Given the description of an element on the screen output the (x, y) to click on. 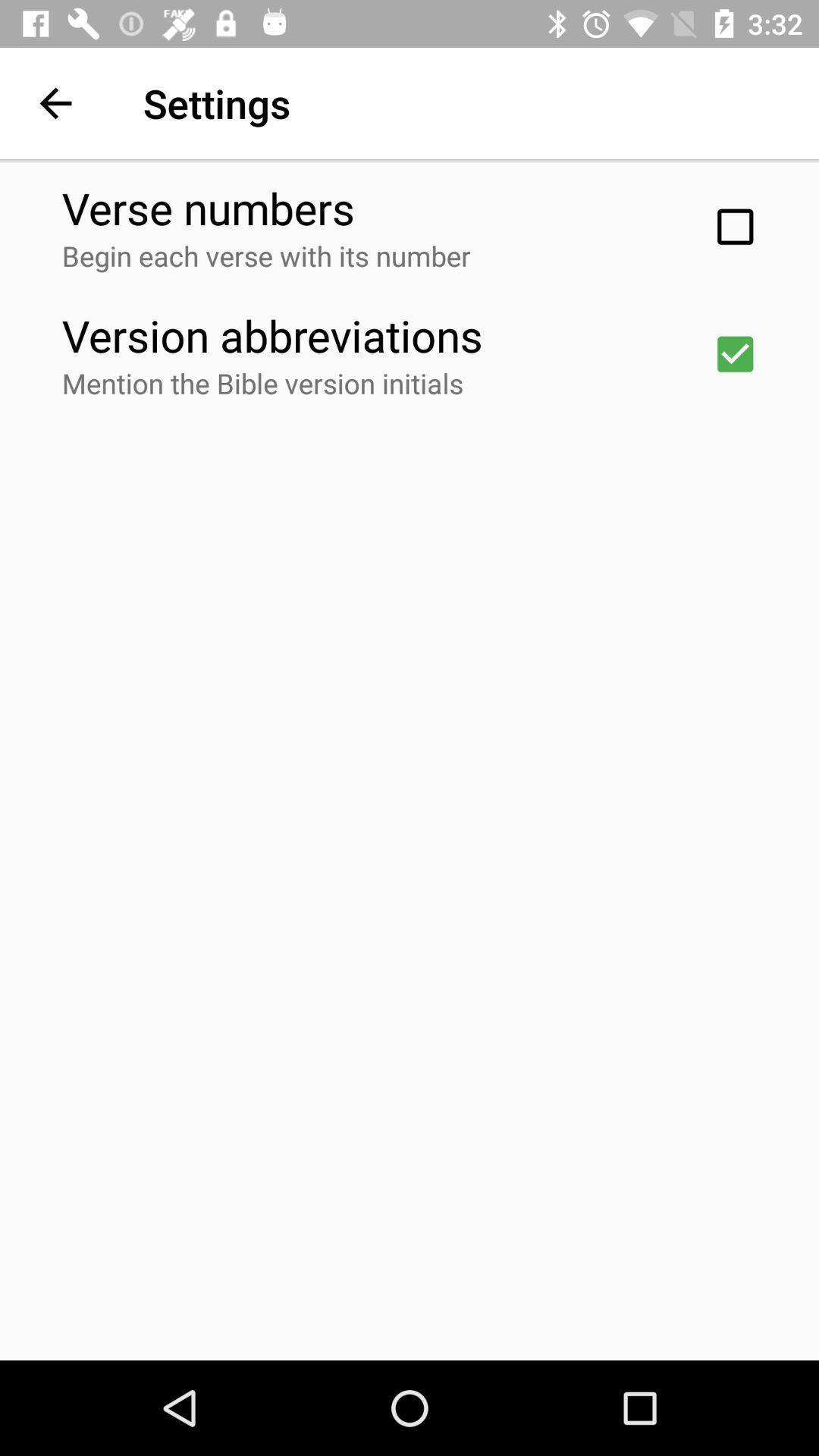
turn off the app next to the settings item (55, 103)
